Given the description of an element on the screen output the (x, y) to click on. 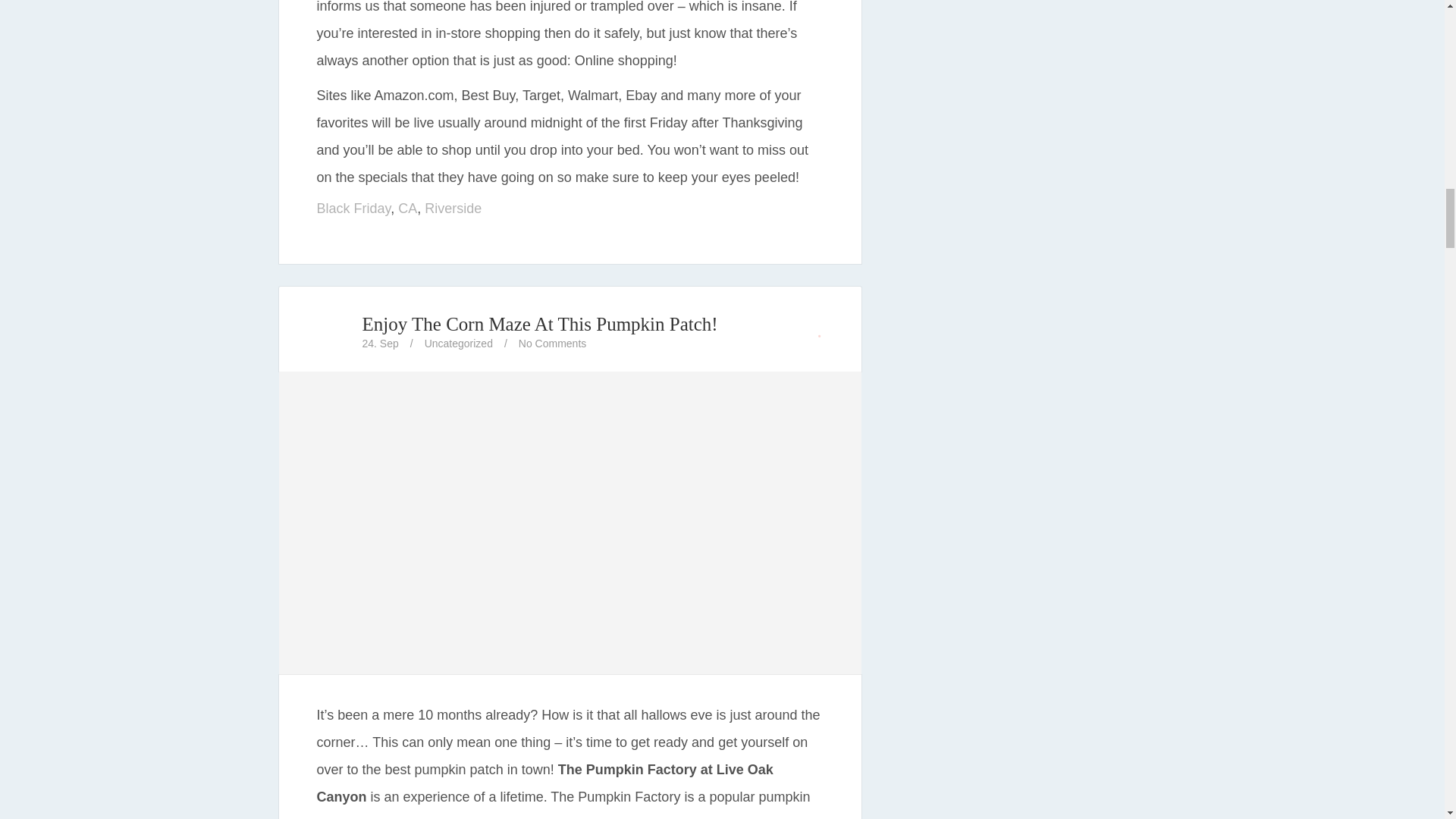
CA (406, 208)
Riverside (453, 208)
Uncategorized (459, 343)
View all posts in Uncategorized (459, 343)
Author Name (331, 331)
Enjoy The Corn Maze At This Pumpkin Patch! (539, 323)
Enjoy The Corn Maze At This Pumpkin Patch! (570, 662)
Black Friday (354, 208)
No Comments (552, 343)
